Given the description of an element on the screen output the (x, y) to click on. 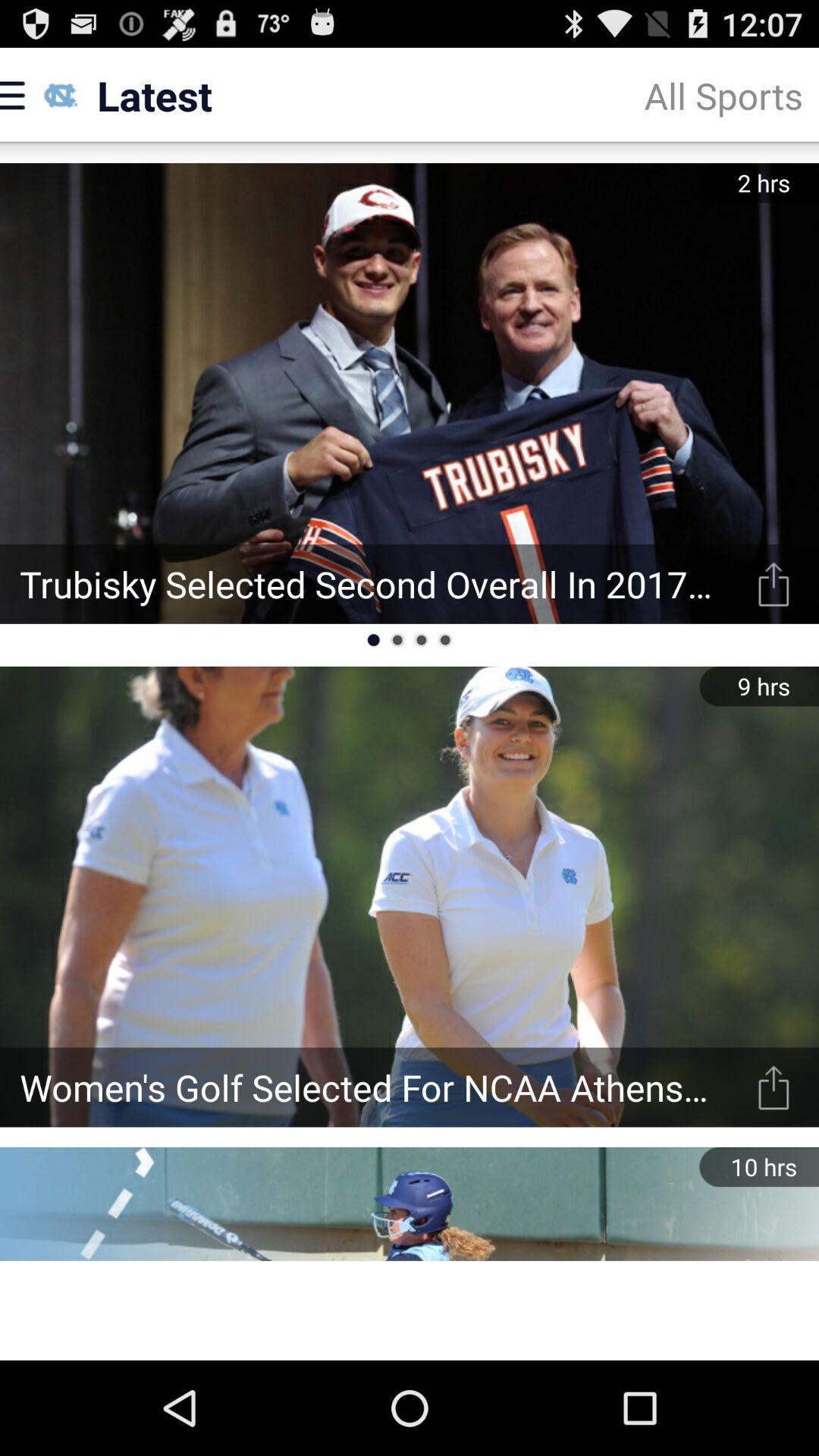
upload (773, 1087)
